Given the description of an element on the screen output the (x, y) to click on. 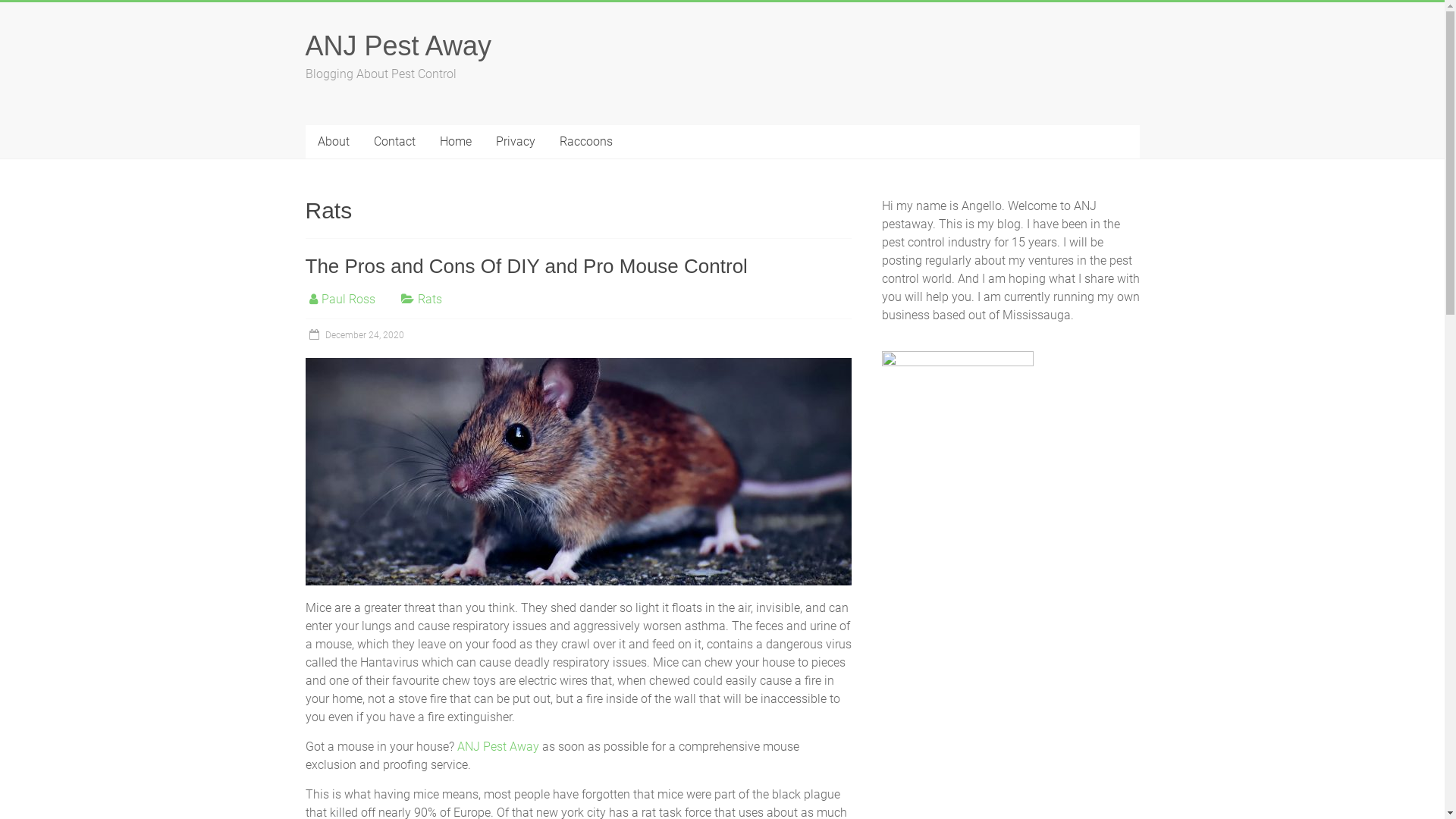
Home Element type: text (455, 141)
Paul Ross Element type: text (348, 298)
About Element type: text (332, 141)
The Pros and Cons Of DIY and Pro Mouse Control Element type: hover (577, 364)
The Pros and Cons Of DIY and Pro Mouse Control Element type: text (525, 265)
Contact Element type: text (393, 141)
The Pros and Cons Of DIY and Pro Mouse Control Element type: hover (577, 471)
ANJ Pest Away Element type: text (397, 45)
Raccoons Element type: text (585, 141)
Rats Element type: text (429, 298)
ANJ Pest Away Element type: text (497, 746)
Privacy Element type: text (515, 141)
December 24, 2020 Element type: text (353, 334)
